Given the description of an element on the screen output the (x, y) to click on. 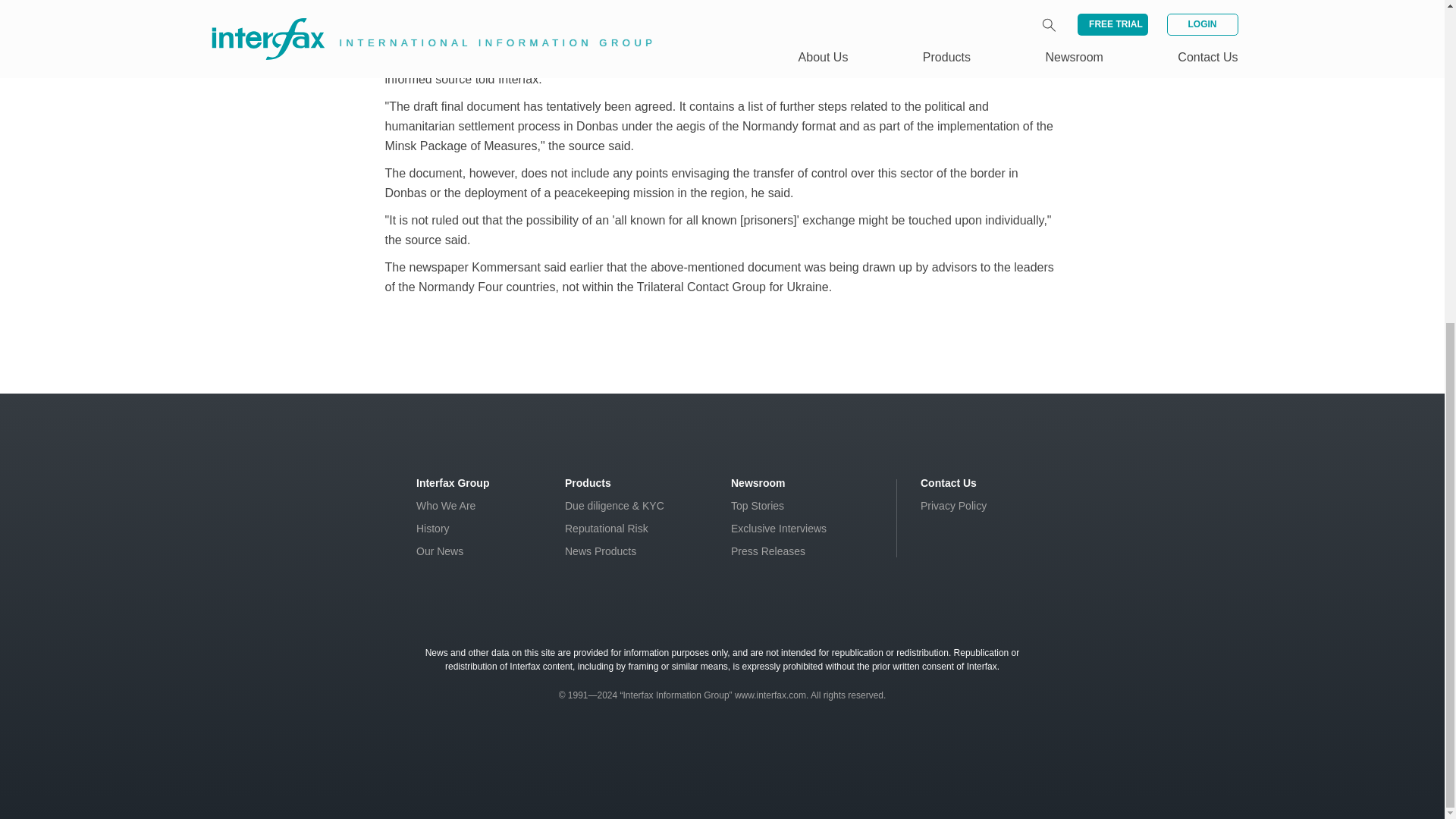
Who We Are (446, 505)
Interfax Group (452, 482)
History (432, 528)
Our News (439, 551)
